Given the description of an element on the screen output the (x, y) to click on. 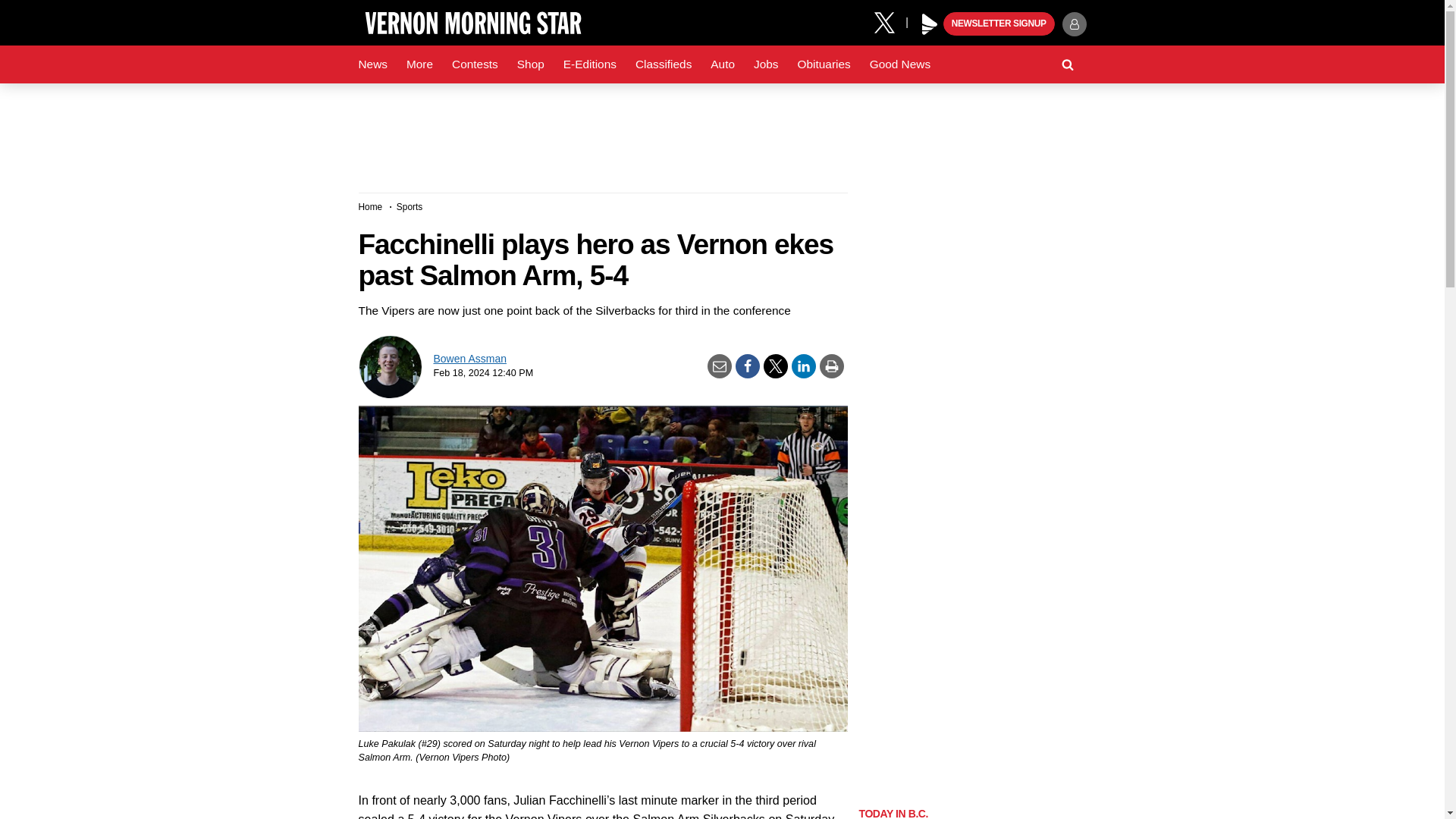
Black Press Media (929, 24)
Play (929, 24)
NEWSLETTER SIGNUP (998, 24)
News (372, 64)
X (889, 21)
